Given the description of an element on the screen output the (x, y) to click on. 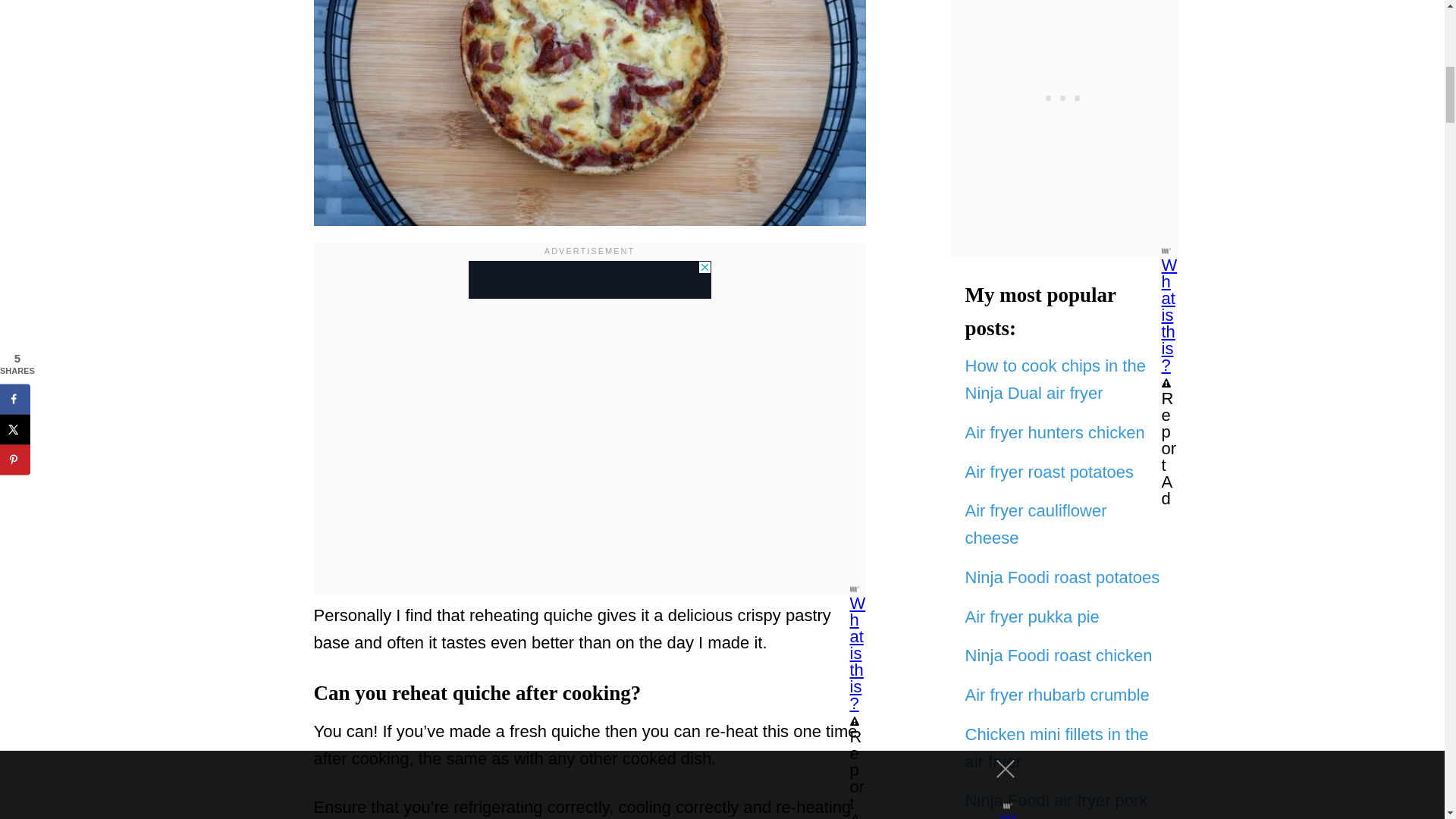
3rd party ad content (589, 279)
